Given the description of an element on the screen output the (x, y) to click on. 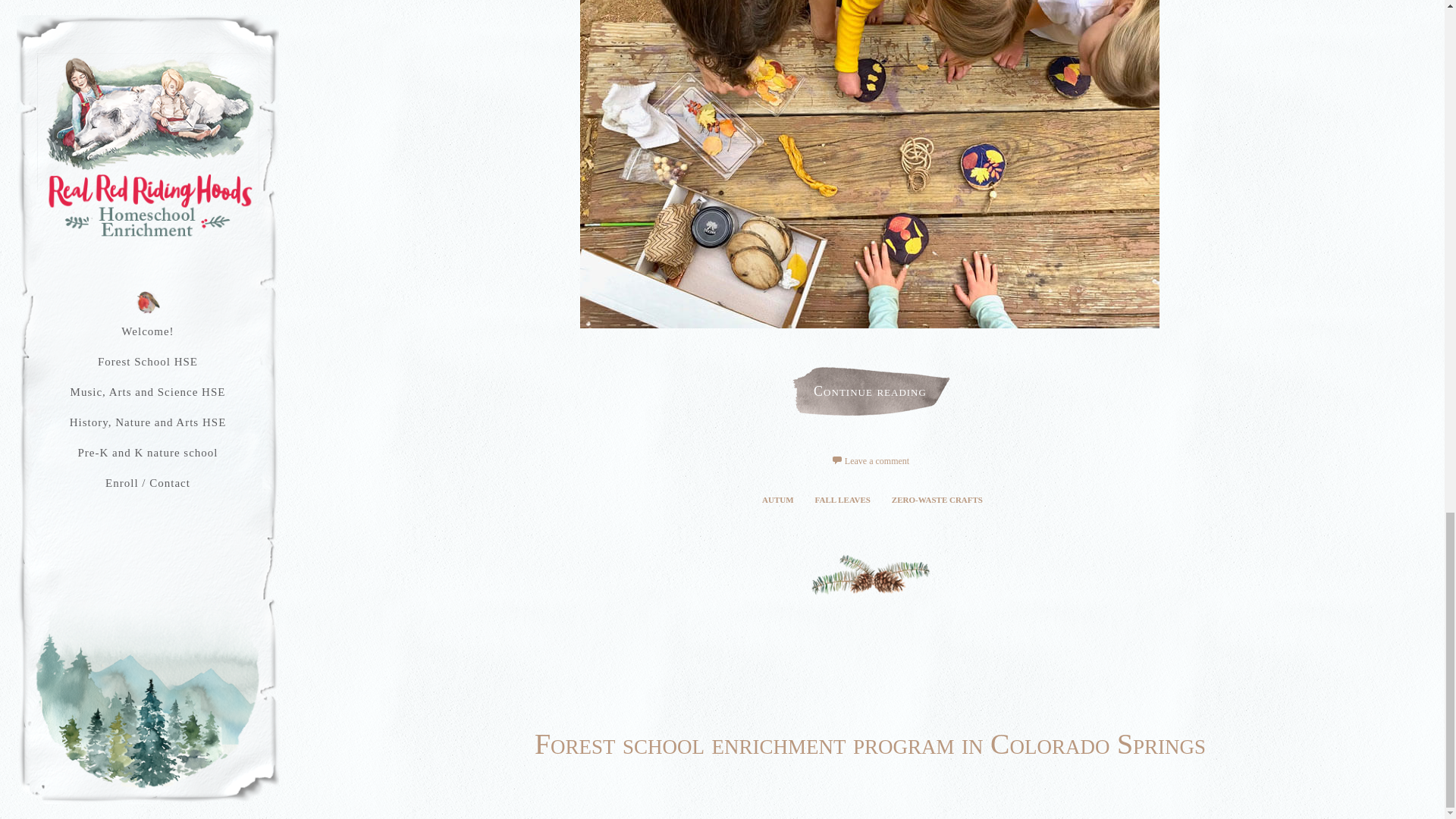
Continue reading (869, 391)
ZERO-WASTE CRAFTS (937, 499)
Leave a comment (869, 460)
FALL LEAVES (842, 499)
AUTUM (778, 499)
